Given the description of an element on the screen output the (x, y) to click on. 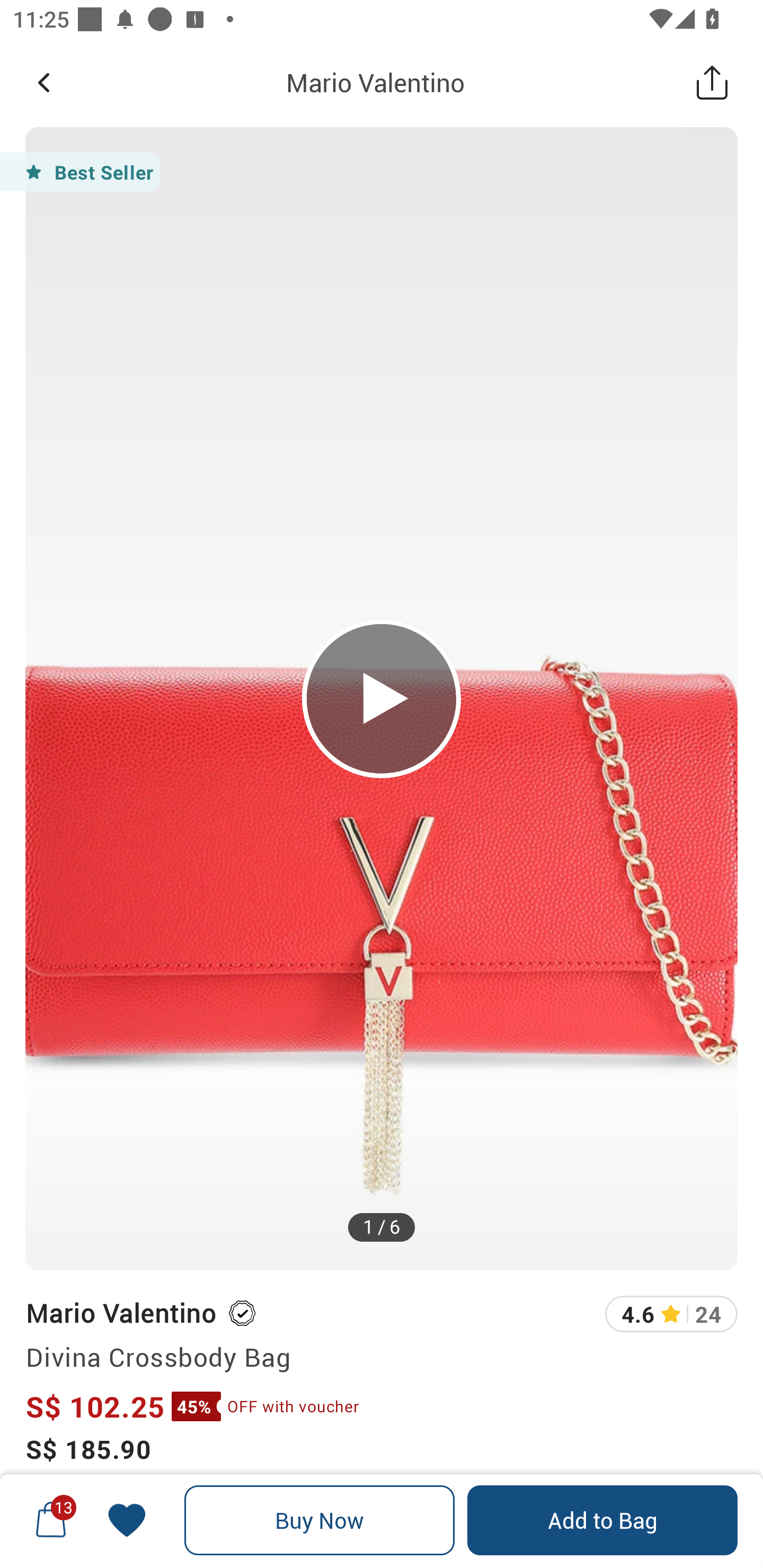
Mario Valentino (375, 82)
Share this Product (711, 82)
Mario Valentino (120, 1312)
4.6 24 (671, 1313)
Buy Now (319, 1519)
Add to Bag (601, 1519)
13 (50, 1520)
